Given the description of an element on the screen output the (x, y) to click on. 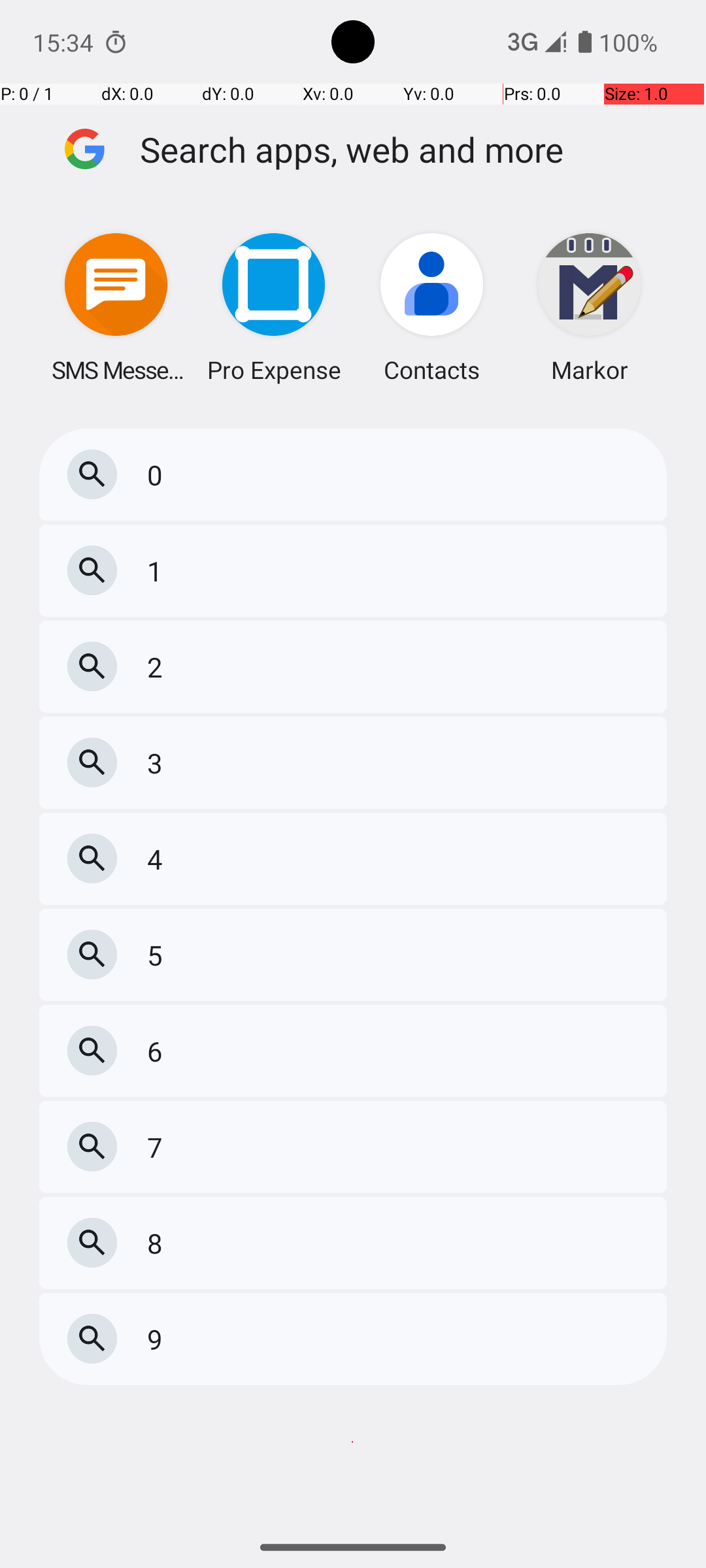
Search apps, web and more Element type: android.widget.EditText (403, 148)
SMS Messenger Element type: android.widget.TextView (115, 306)
Pro Expense Element type: android.widget.TextView (273, 306)
Contacts Element type: android.widget.TextView (431, 306)
Markor Element type: android.widget.TextView (589, 306)
0 Element type: android.widget.TextView (158, 474)
1 Element type: android.widget.TextView (158, 570)
2 Element type: android.widget.TextView (158, 666)
3 Element type: android.widget.TextView (158, 762)
4 Element type: android.widget.TextView (158, 858)
5 Element type: android.widget.TextView (158, 954)
6 Element type: android.widget.TextView (158, 1050)
7 Element type: android.widget.TextView (158, 1146)
8 Element type: android.widget.TextView (158, 1242)
9 Element type: android.widget.TextView (158, 1338)
